Given the description of an element on the screen output the (x, y) to click on. 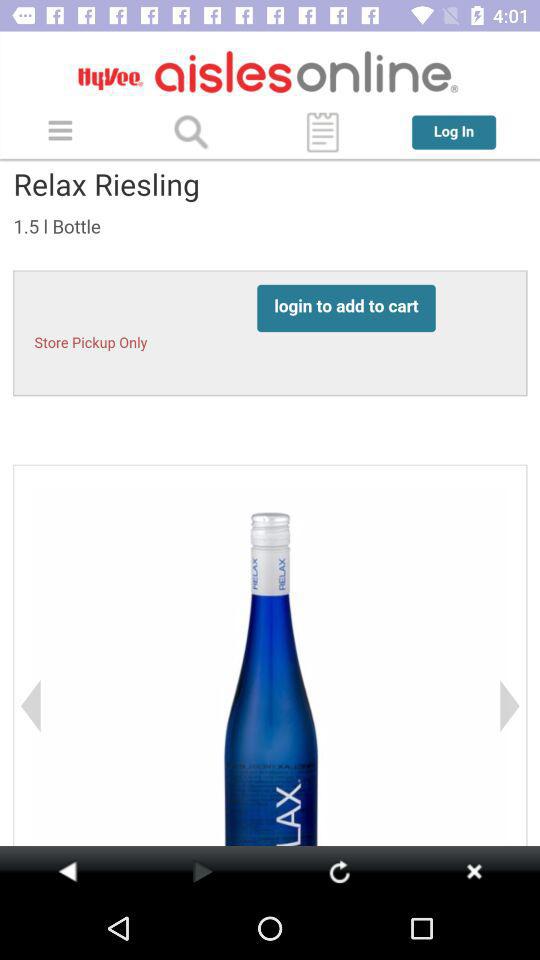
close (474, 871)
